Given the description of an element on the screen output the (x, y) to click on. 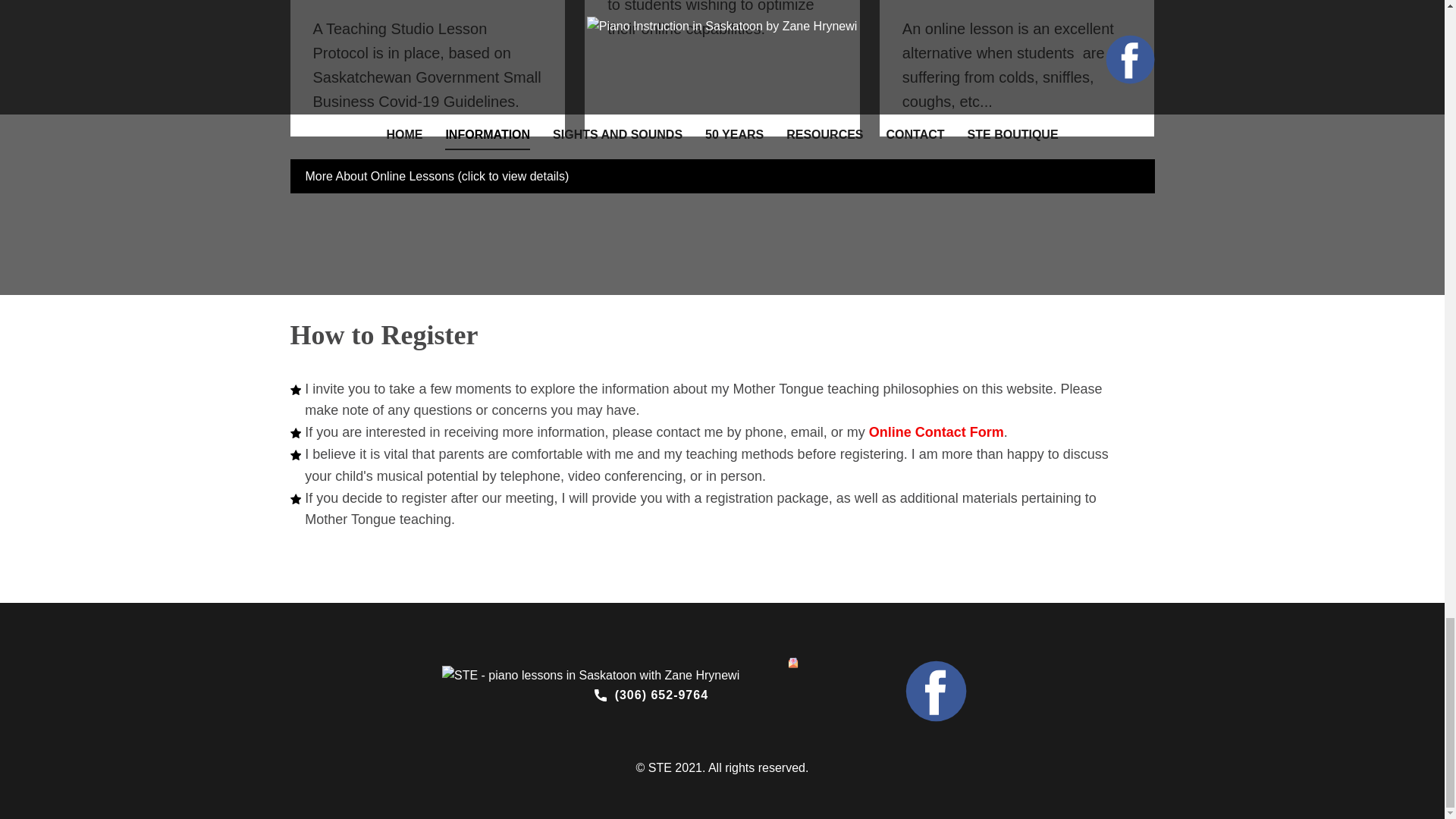
facebook (935, 690)
